Given the description of an element on the screen output the (x, y) to click on. 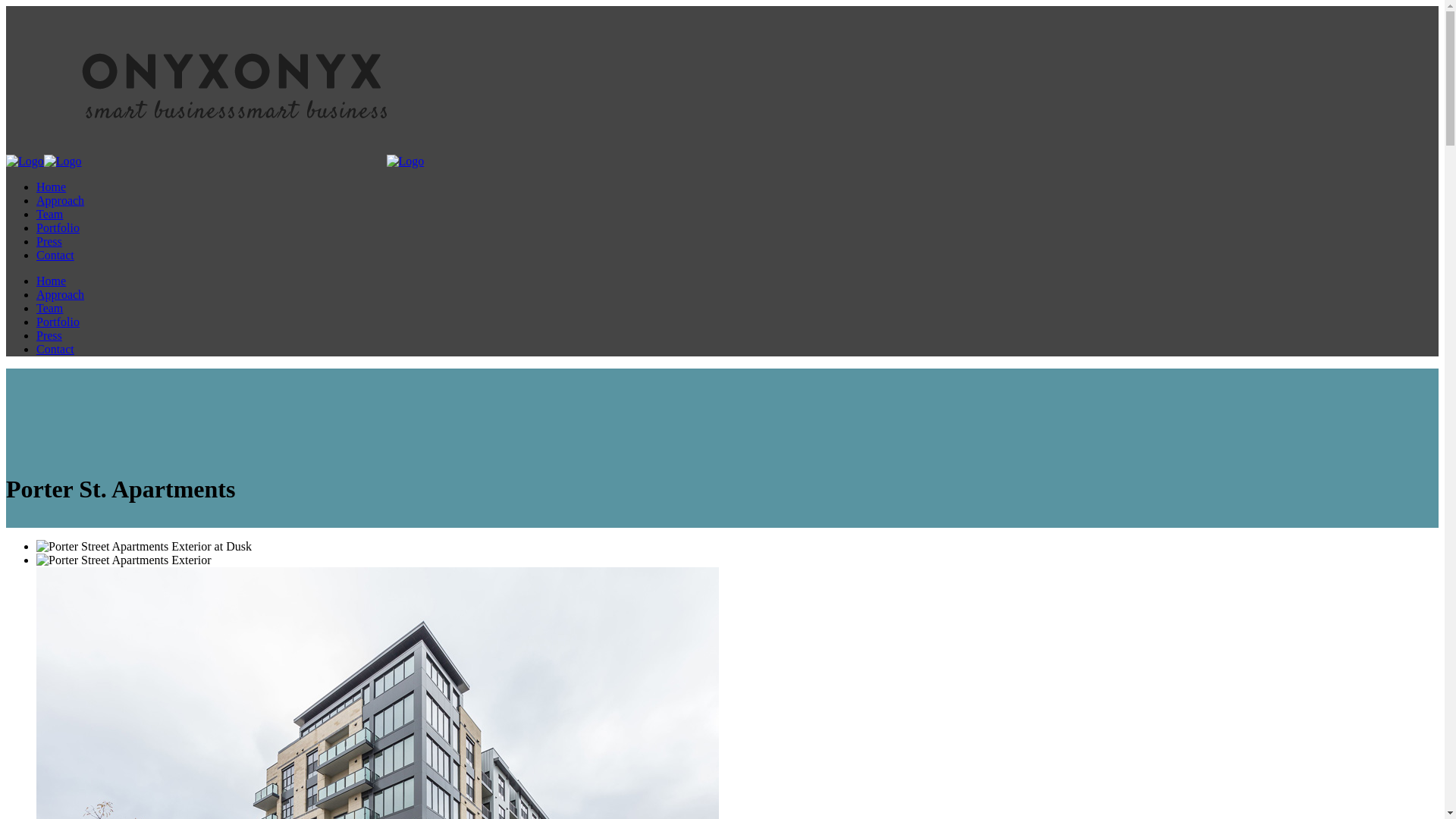
Approach Element type: text (60, 294)
Home Element type: text (50, 186)
Press Element type: text (49, 241)
Portfolio Element type: text (57, 227)
Team Element type: text (49, 213)
Press Element type: text (49, 335)
Contact Element type: text (55, 254)
Contact Element type: text (55, 348)
Approach Element type: text (60, 200)
Home Element type: text (50, 280)
Portfolio Element type: text (57, 321)
Team Element type: text (49, 307)
